Given the description of an element on the screen output the (x, y) to click on. 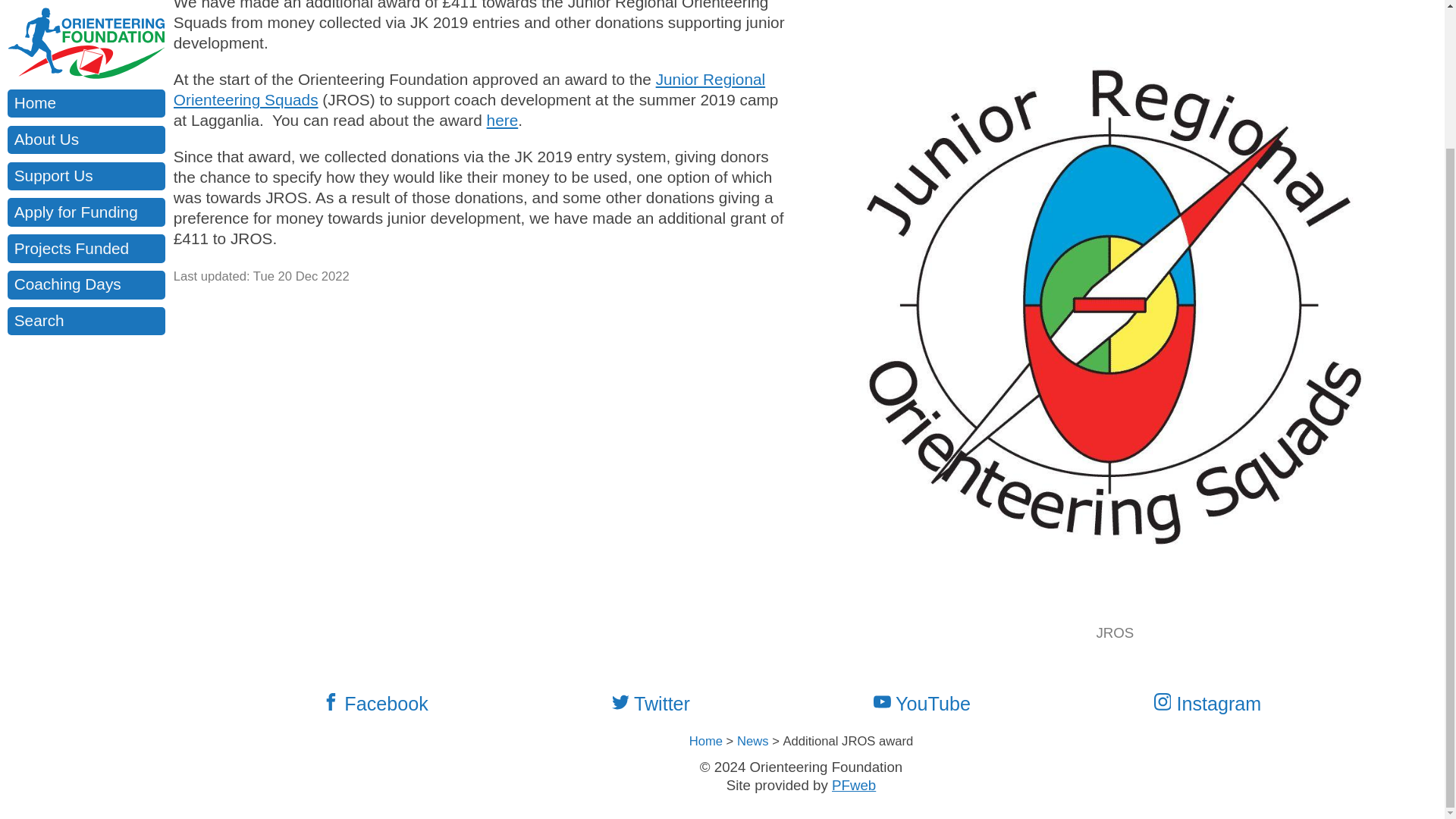
Support Us (86, 9)
Find us on Facebook (383, 703)
Search (86, 150)
News (752, 740)
Home (705, 740)
Junior Regional Orienteering Squads (469, 89)
Projects Funded (86, 77)
 Twitter (660, 703)
 YouTube (931, 703)
here (502, 119)
